Given the description of an element on the screen output the (x, y) to click on. 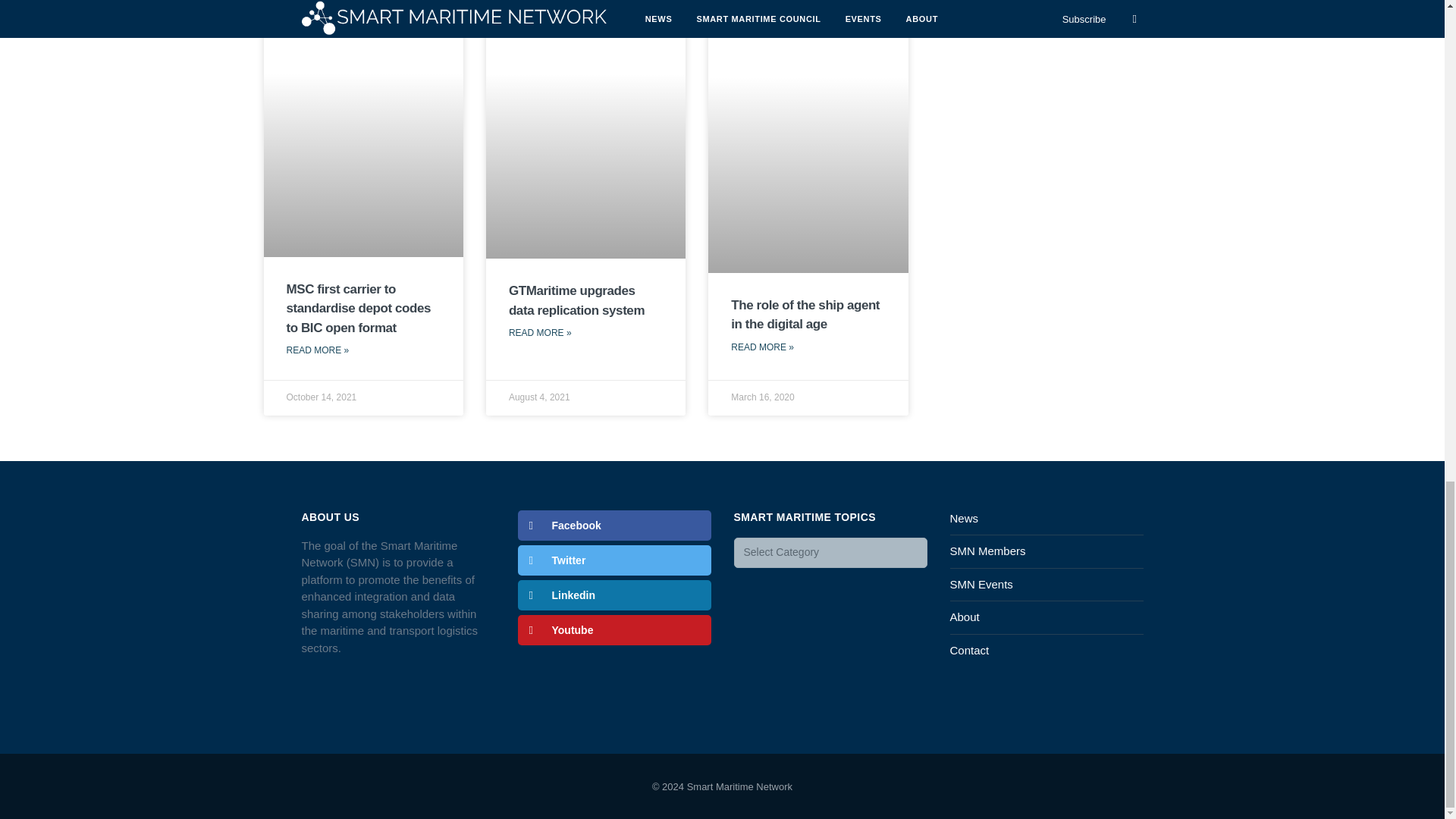
Linkedin (613, 594)
Youtube (613, 630)
Facebook (613, 525)
Twitter (613, 560)
